Given the description of an element on the screen output the (x, y) to click on. 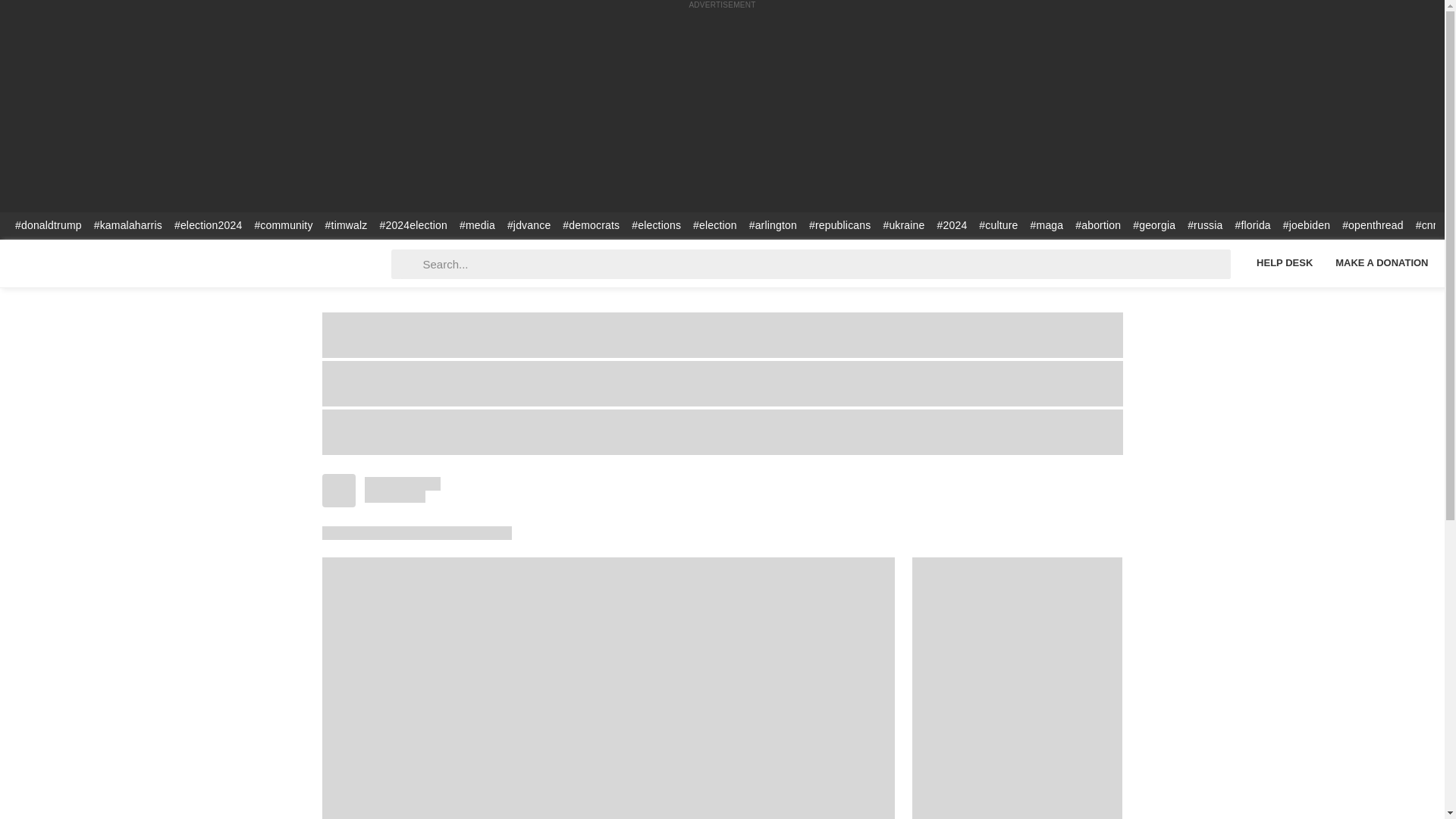
MAKE A DONATION (1381, 262)
Make a Donation (1381, 262)
Help Desk (1283, 262)
